Given the description of an element on the screen output the (x, y) to click on. 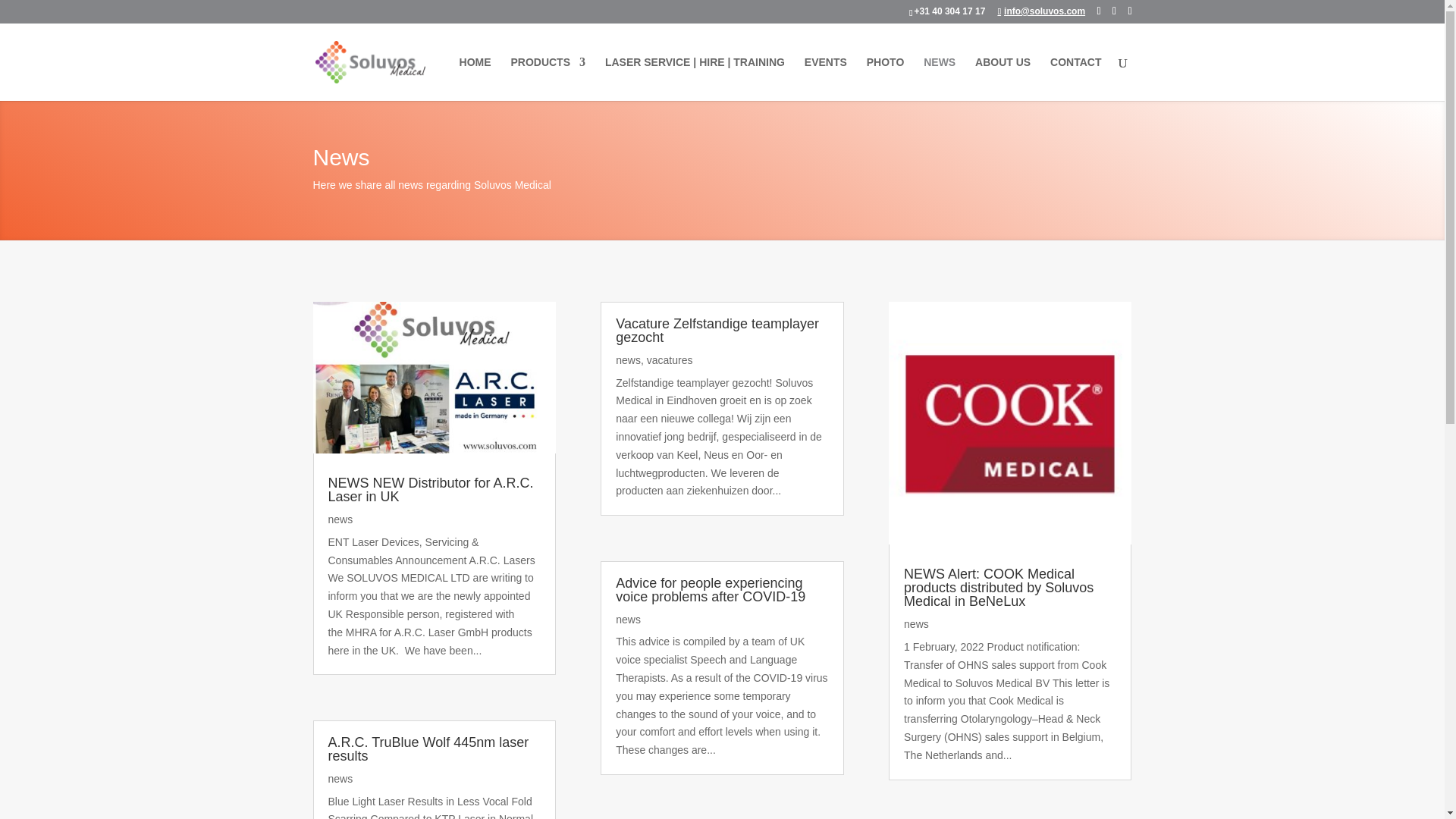
PRODUCTS (548, 78)
